Given the description of an element on the screen output the (x, y) to click on. 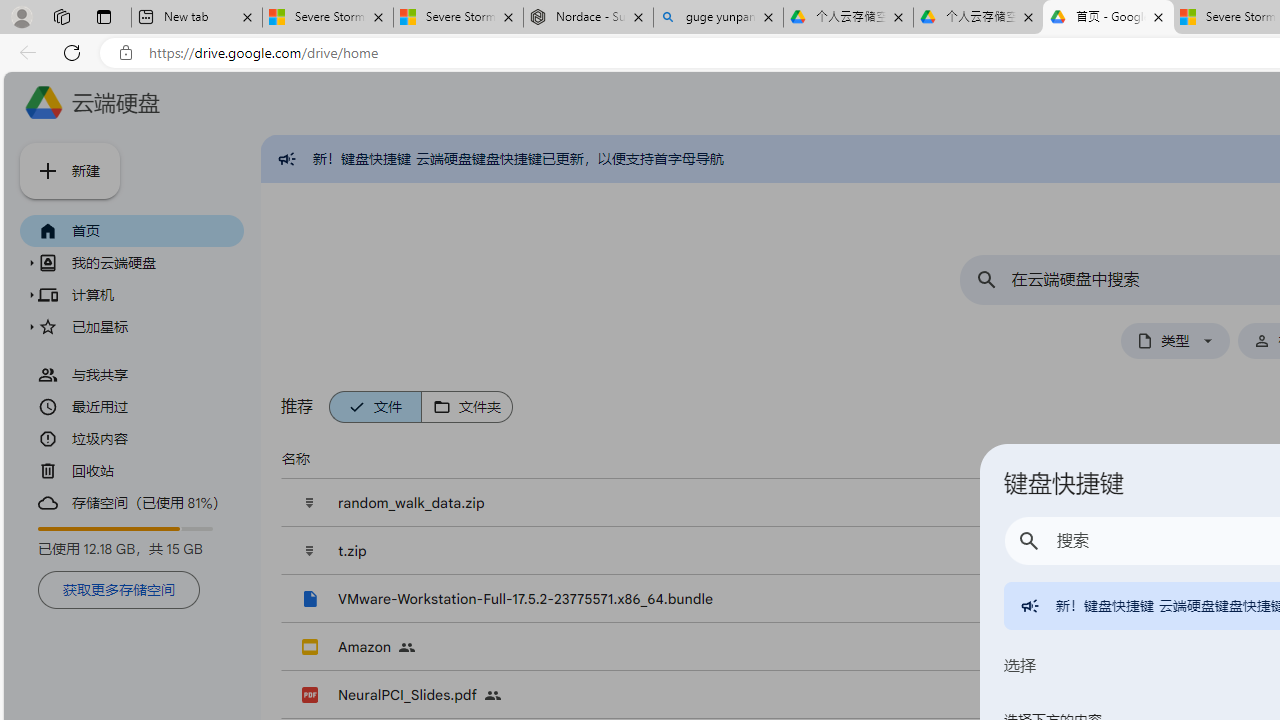
Nordace - Summer Adventures 2024 (587, 17)
guge yunpan - Search (718, 17)
